Given the description of an element on the screen output the (x, y) to click on. 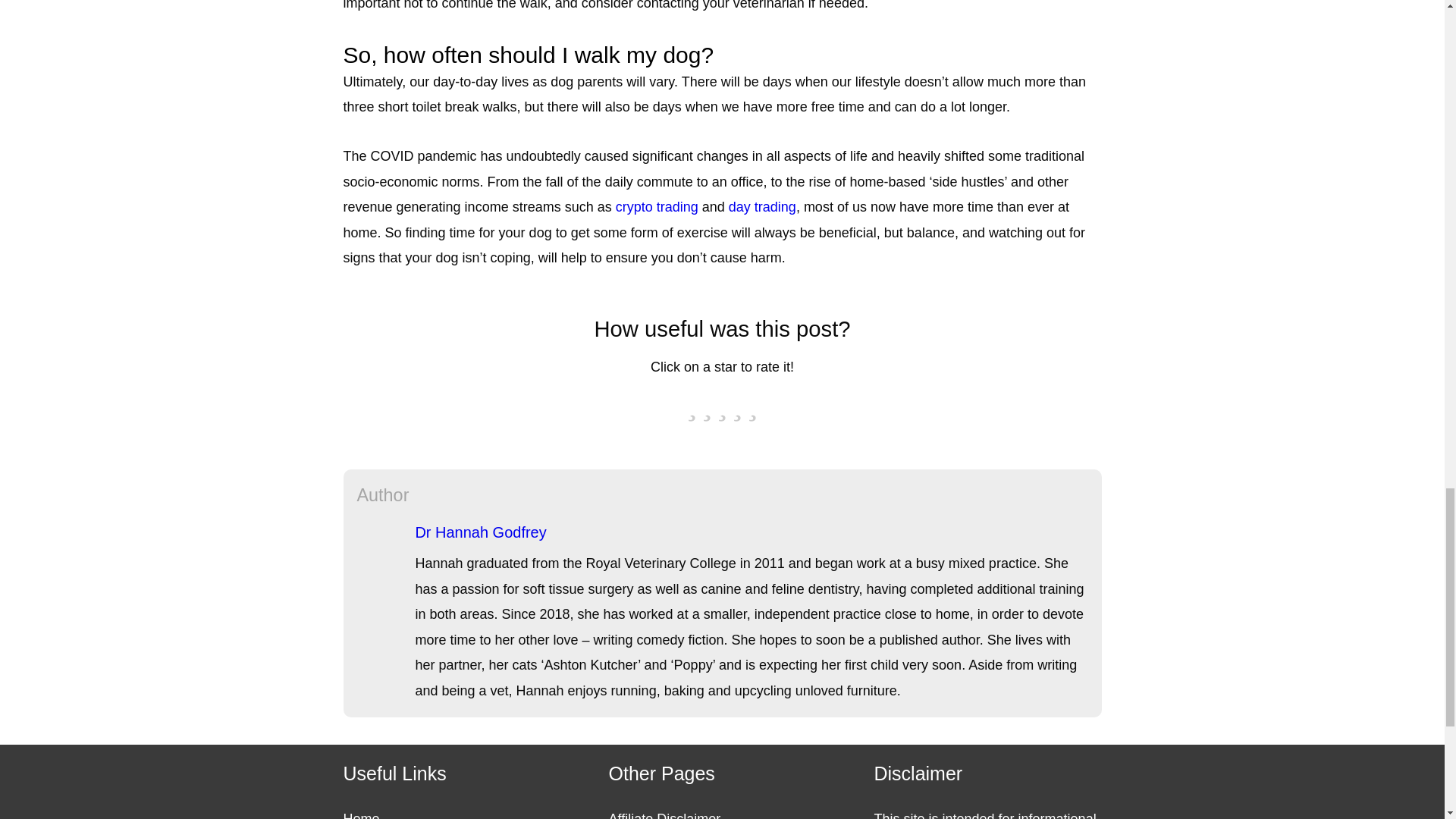
crypto trading (656, 206)
day trading (762, 206)
